Given the description of an element on the screen output the (x, y) to click on. 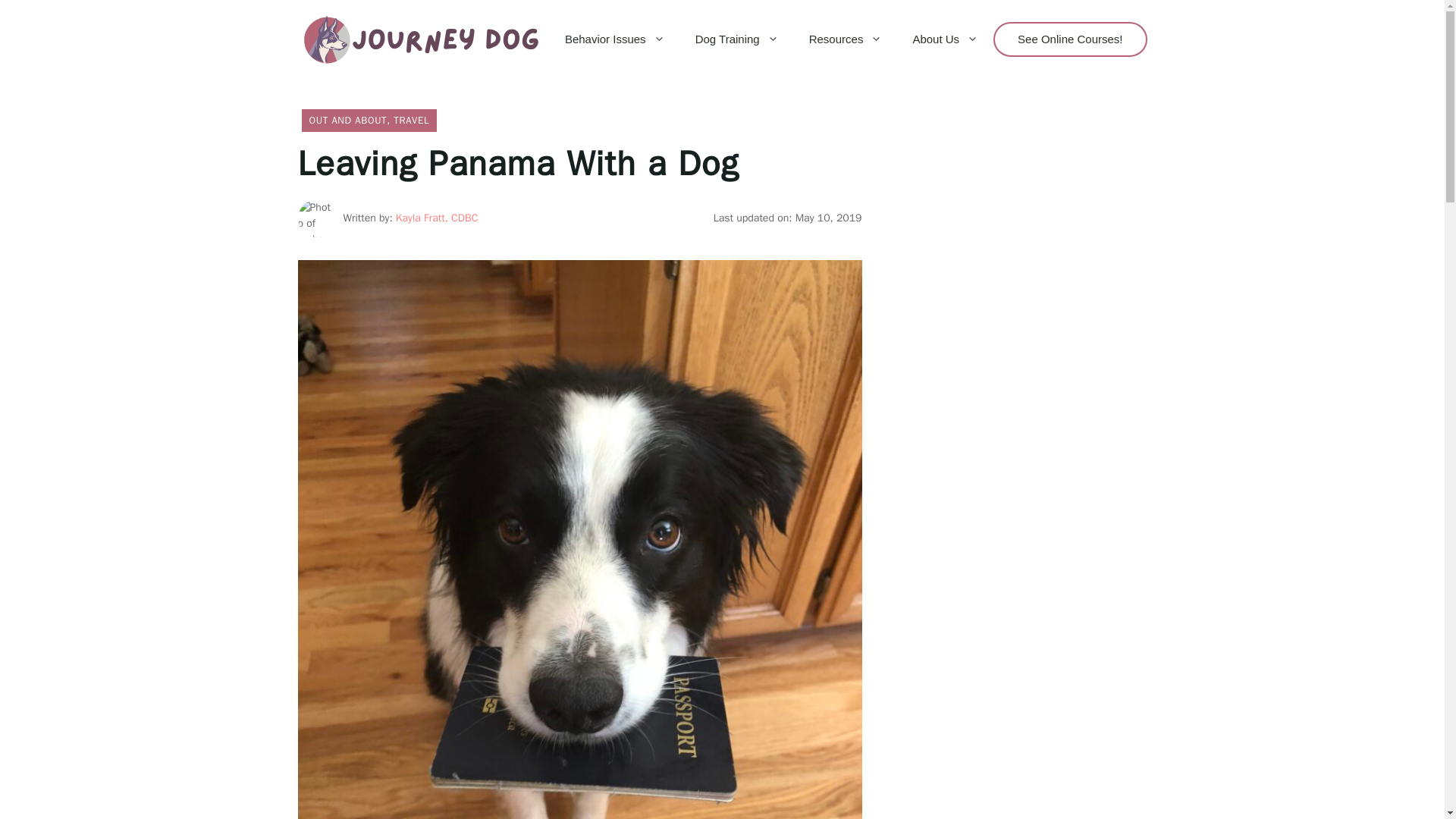
About Us (944, 39)
Kayla Fratt, CDBC (437, 217)
Dog Training (736, 39)
Behavior Issues (614, 39)
OUT AND ABOUT, TRAVEL (369, 119)
Resources (845, 39)
See Online Courses! (1069, 39)
